Given the description of an element on the screen output the (x, y) to click on. 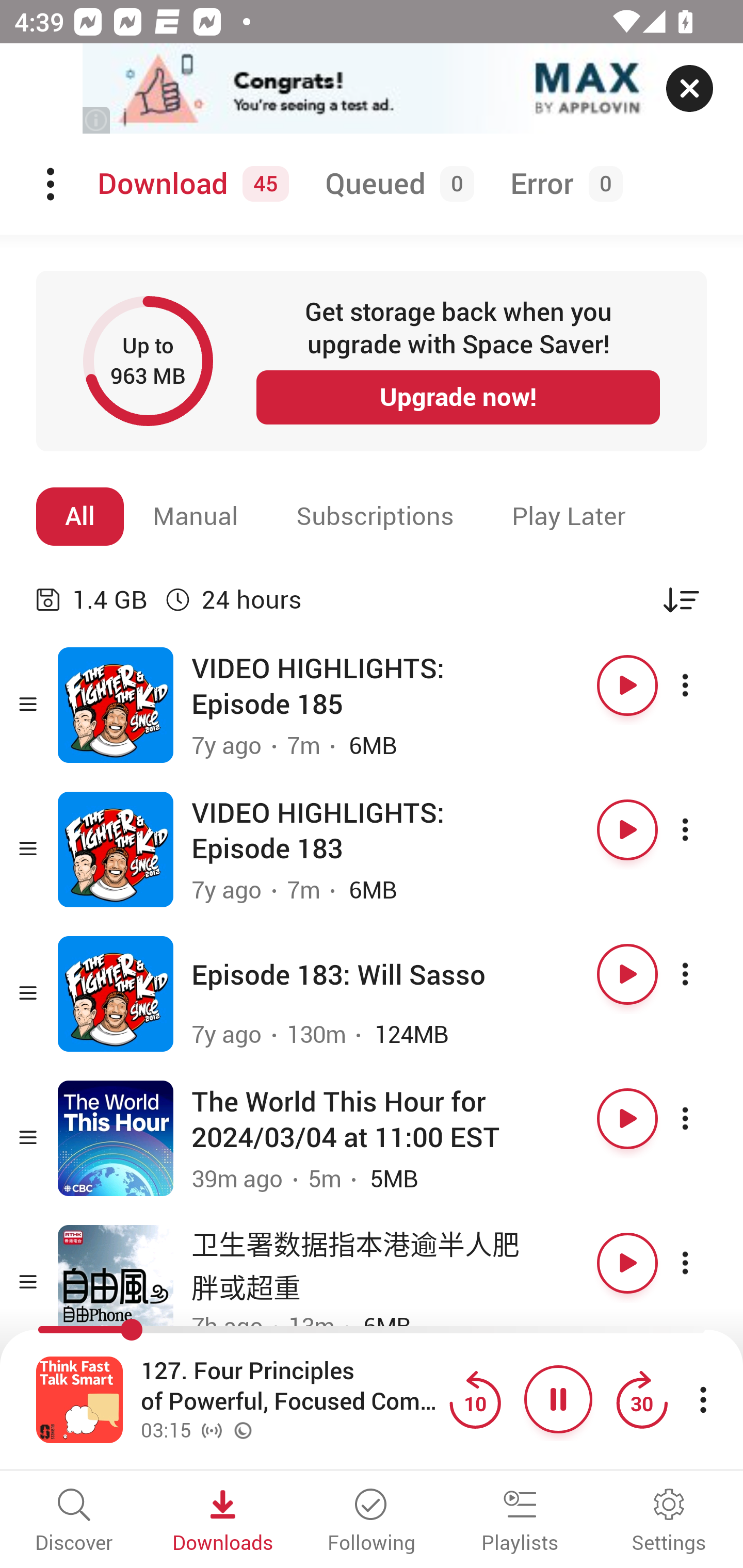
app-monetization (371, 88)
(i) (96, 119)
Menu (52, 184)
 Download 45 (189, 184)
 Queued 0 (396, 184)
 Error 0 (562, 184)
All (80, 516)
Manual (195, 516)
Subscriptions (374, 516)
Play Later (568, 516)
Change sort order (681, 599)
Play button (627, 685)
More options (703, 685)
Open series The Fighter & The Kid (115, 705)
Play button (627, 830)
More options (703, 830)
Open series The Fighter & The Kid (115, 849)
Play button (627, 974)
More options (703, 974)
Open series The Fighter & The Kid (115, 994)
Play button (627, 1118)
More options (703, 1118)
Open series The World This Hour (115, 1138)
Play button (627, 1263)
More options (703, 1263)
Open series 自由风自由PHONE (115, 1282)
Open fullscreen player (79, 1399)
More player controls (703, 1399)
Pause button (558, 1398)
Jump back (475, 1399)
Jump forward (641, 1399)
Discover (74, 1521)
Downloads (222, 1521)
Following (371, 1521)
Playlists (519, 1521)
Settings (668, 1521)
